Given the description of an element on the screen output the (x, y) to click on. 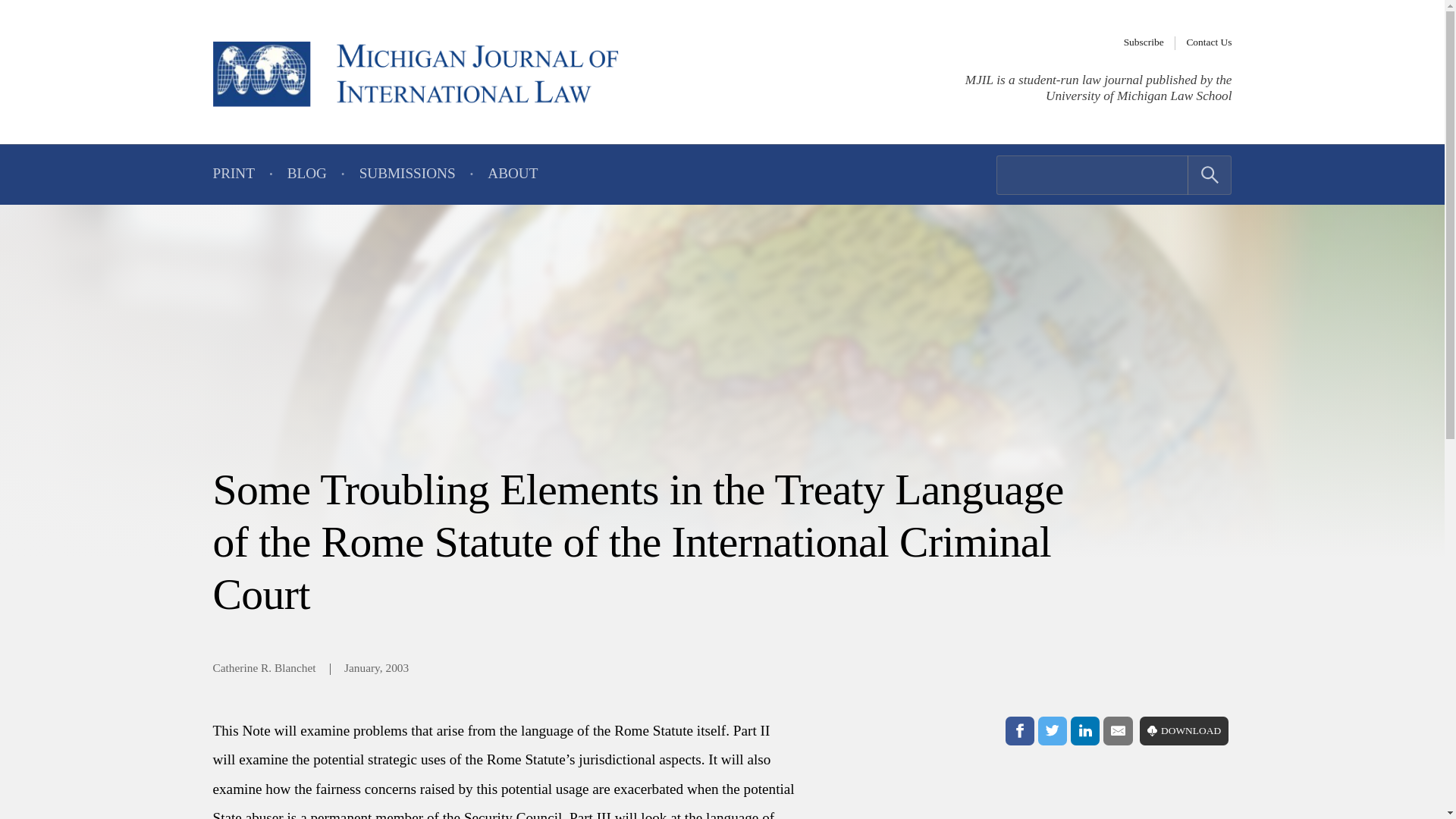
Search (1209, 174)
Twitter (1052, 730)
DOWNLOAD (1184, 730)
Search (1209, 174)
LinkedIn (1084, 730)
Subscribe (1143, 42)
SUBMISSIONS (407, 175)
E-Mail (1117, 730)
Contact Us (1208, 42)
Facebook (1019, 730)
ABOUT (512, 175)
PRINT (232, 175)
